Given the description of an element on the screen output the (x, y) to click on. 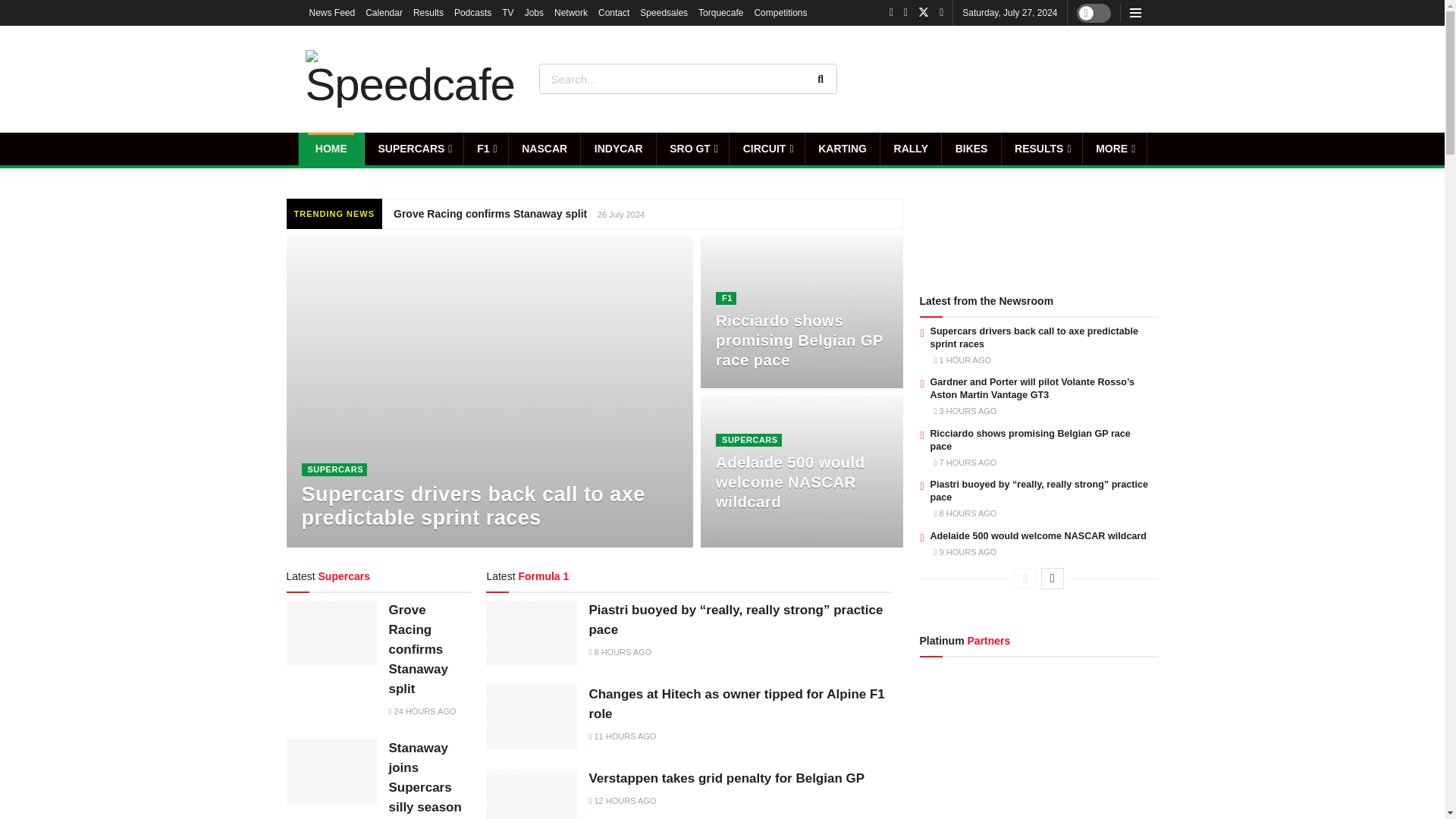
Results (428, 12)
Torquecafe (720, 12)
Competitions (780, 12)
Calendar (384, 12)
News Feed (331, 12)
SUPERCARS (414, 148)
Contact (613, 12)
F1 (486, 148)
Podcasts (473, 12)
Speedsales (663, 12)
Network (571, 12)
Truck Assist (1097, 78)
HOME (330, 148)
